Given the description of an element on the screen output the (x, y) to click on. 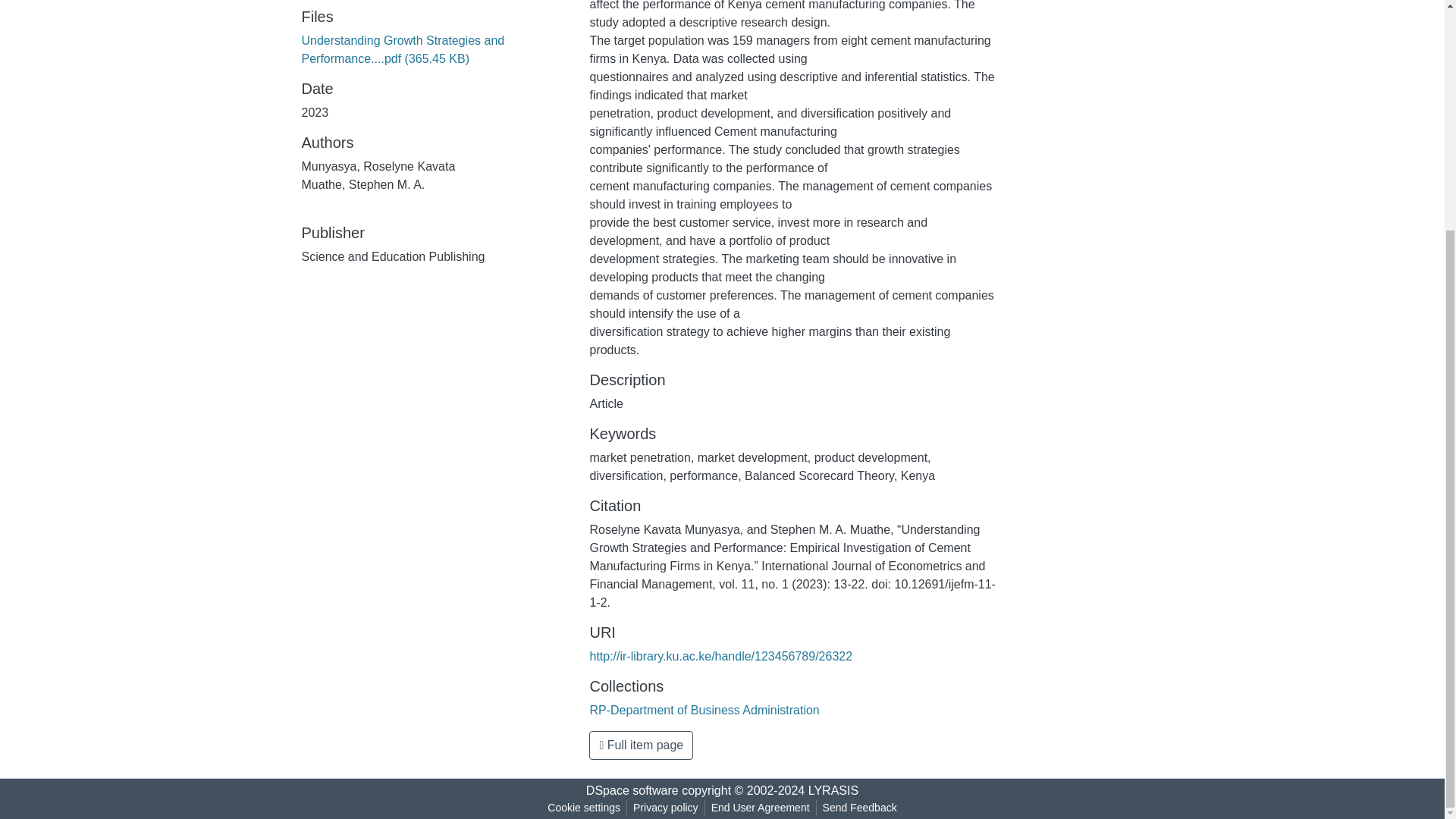
Send Feedback (859, 807)
End User Agreement (759, 807)
Cookie settings (583, 807)
LYRASIS (833, 789)
RP-Department of Business Administration (703, 709)
DSpace software (632, 789)
Full item page (641, 745)
Privacy policy (665, 807)
